Given the description of an element on the screen output the (x, y) to click on. 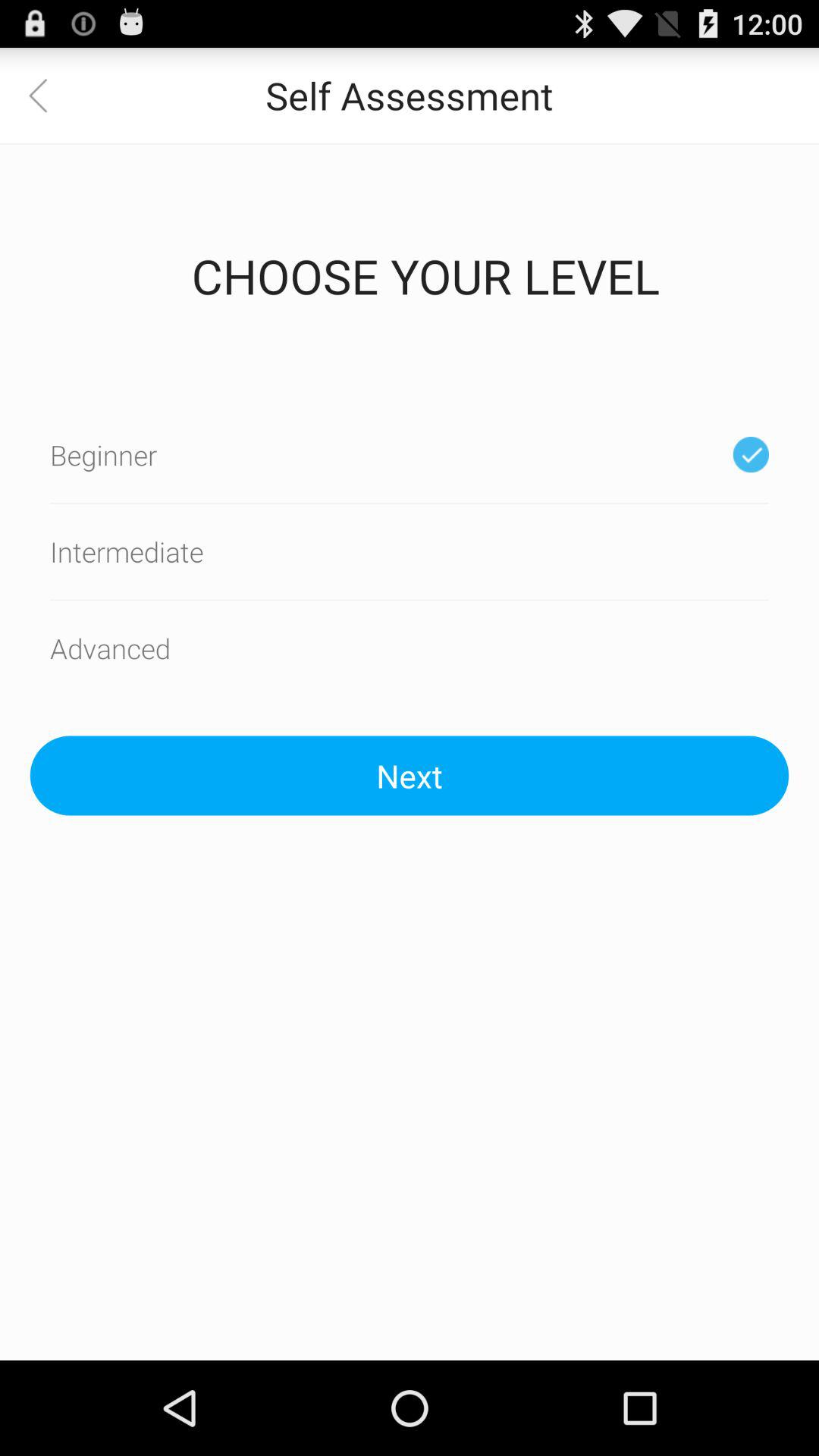
select item below advanced item (409, 775)
